Given the description of an element on the screen output the (x, y) to click on. 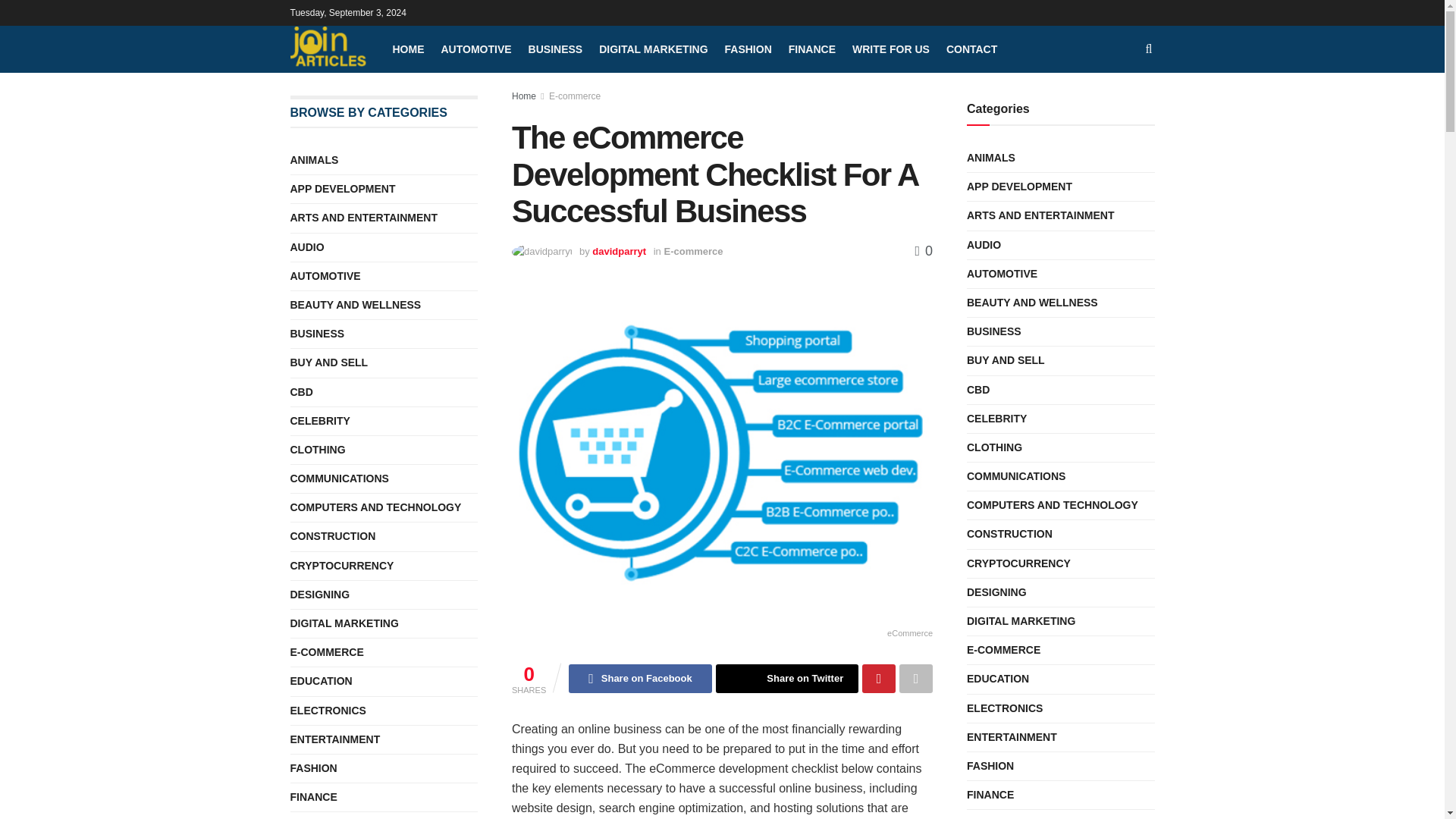
FINANCE (812, 48)
Share on Facebook (640, 678)
BUSINESS (555, 48)
Home (523, 95)
CONTACT (971, 48)
WRITE FOR US (890, 48)
FASHION (748, 48)
Share on Twitter (787, 678)
E-commerce (573, 95)
